Given the description of an element on the screen output the (x, y) to click on. 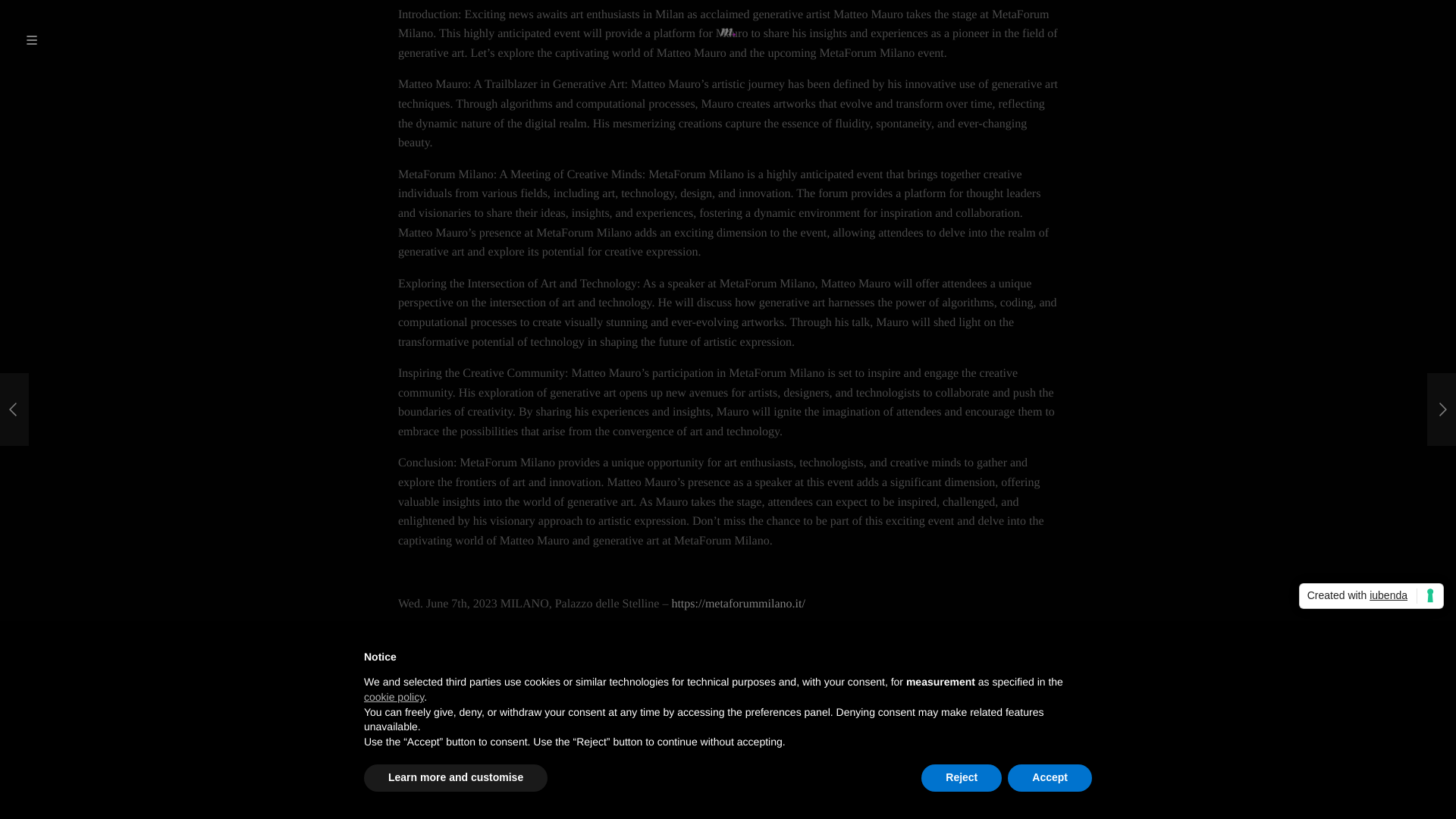
Learn more and customise (455, 143)
Reject (961, 143)
Accept (1049, 143)
cookie policy (393, 61)
